Given the description of an element on the screen output the (x, y) to click on. 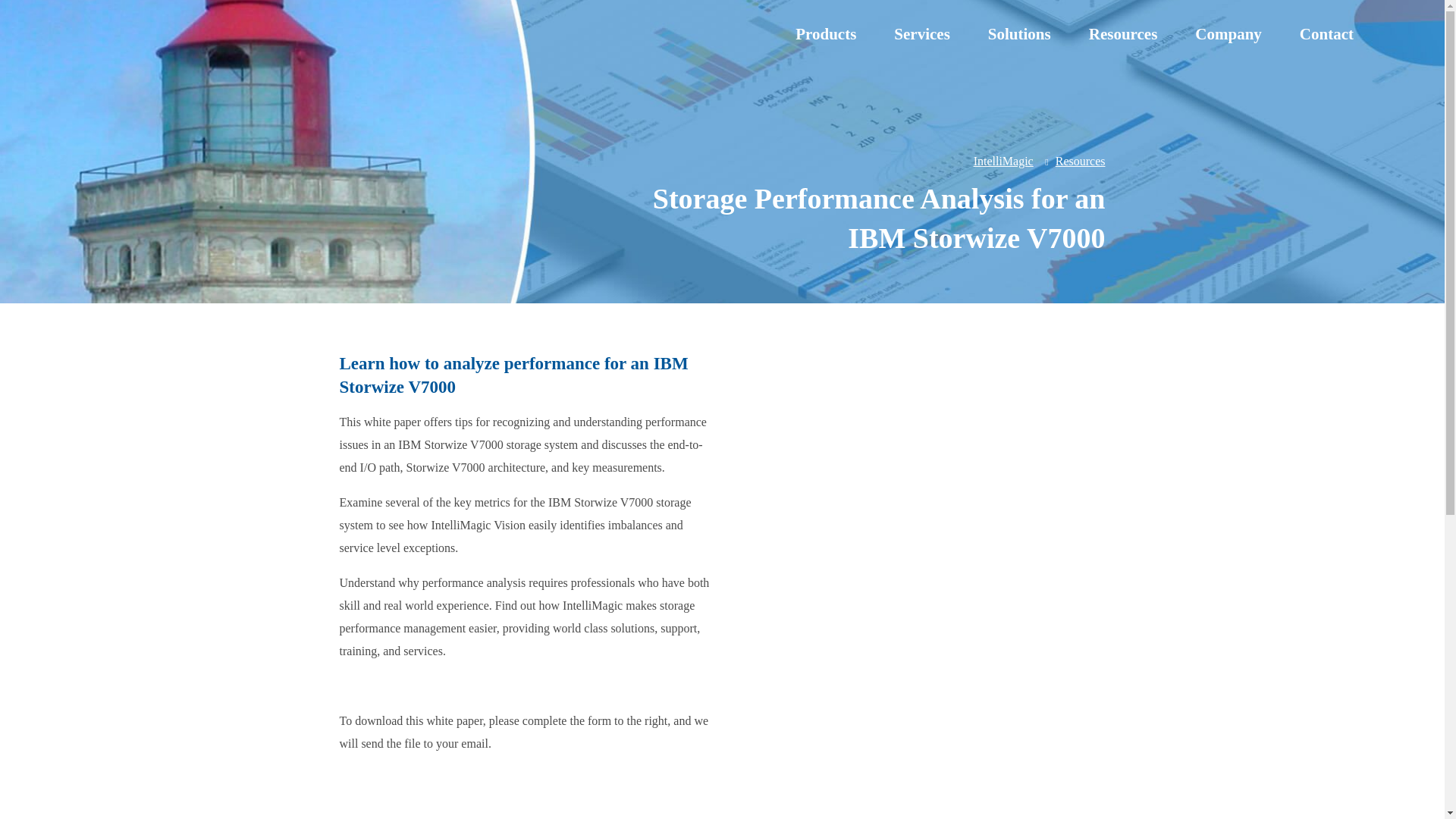
Solutions (1019, 34)
Services (921, 34)
Products (825, 34)
Resources (1123, 34)
